Given the description of an element on the screen output the (x, y) to click on. 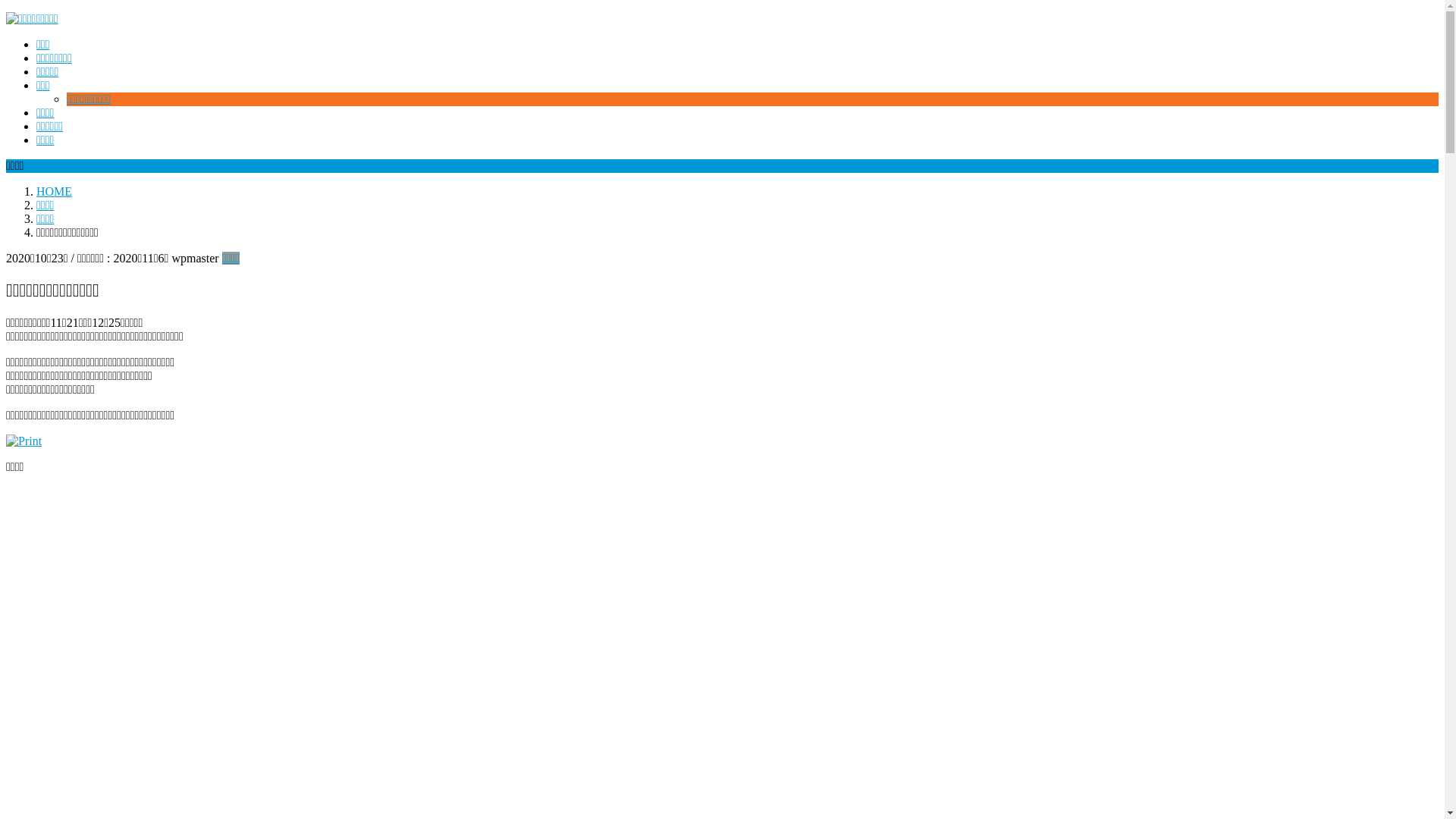
HOME Element type: text (54, 191)
